Given the description of an element on the screen output the (x, y) to click on. 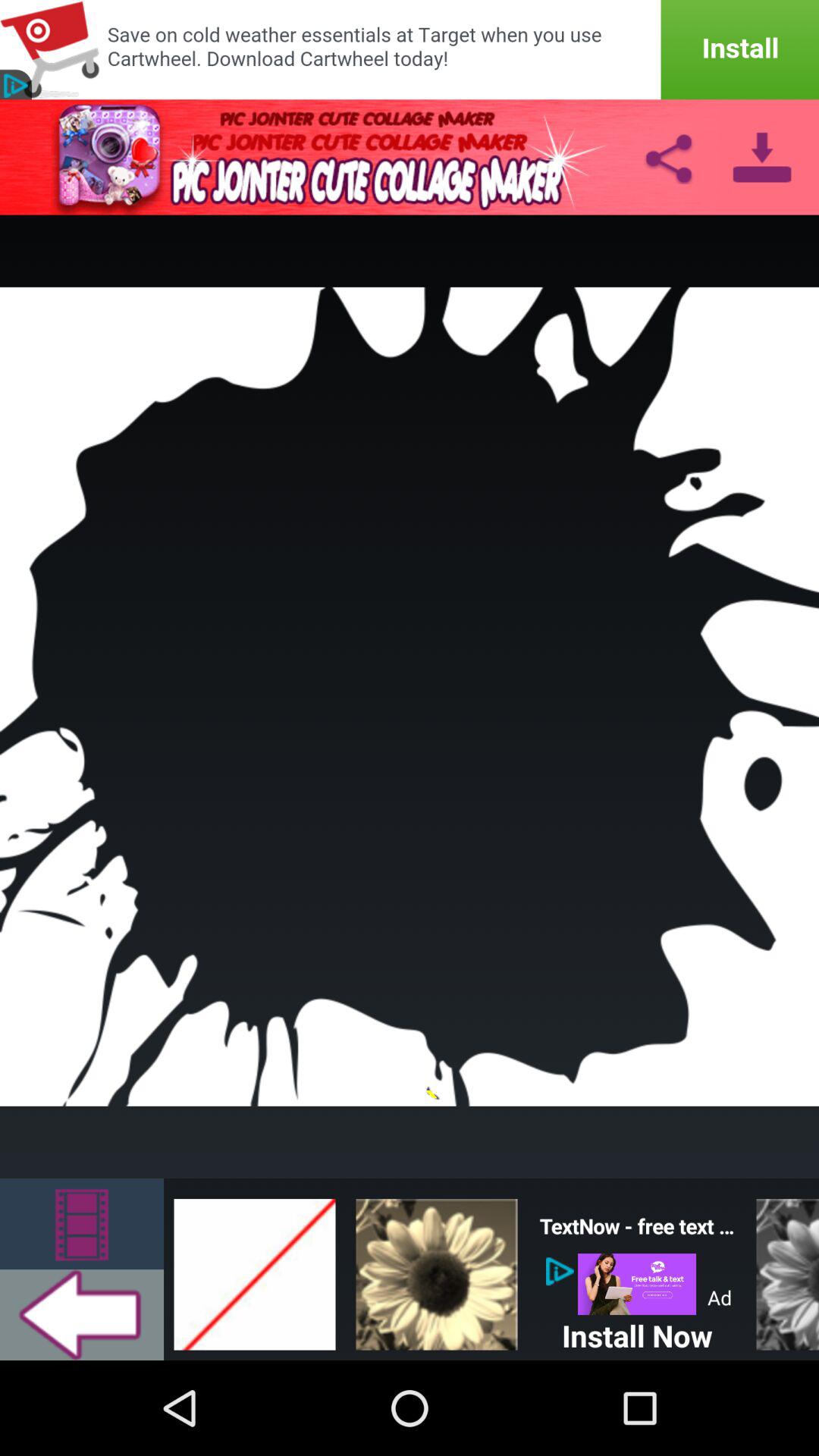
swipe to install now item (636, 1332)
